Given the description of an element on the screen output the (x, y) to click on. 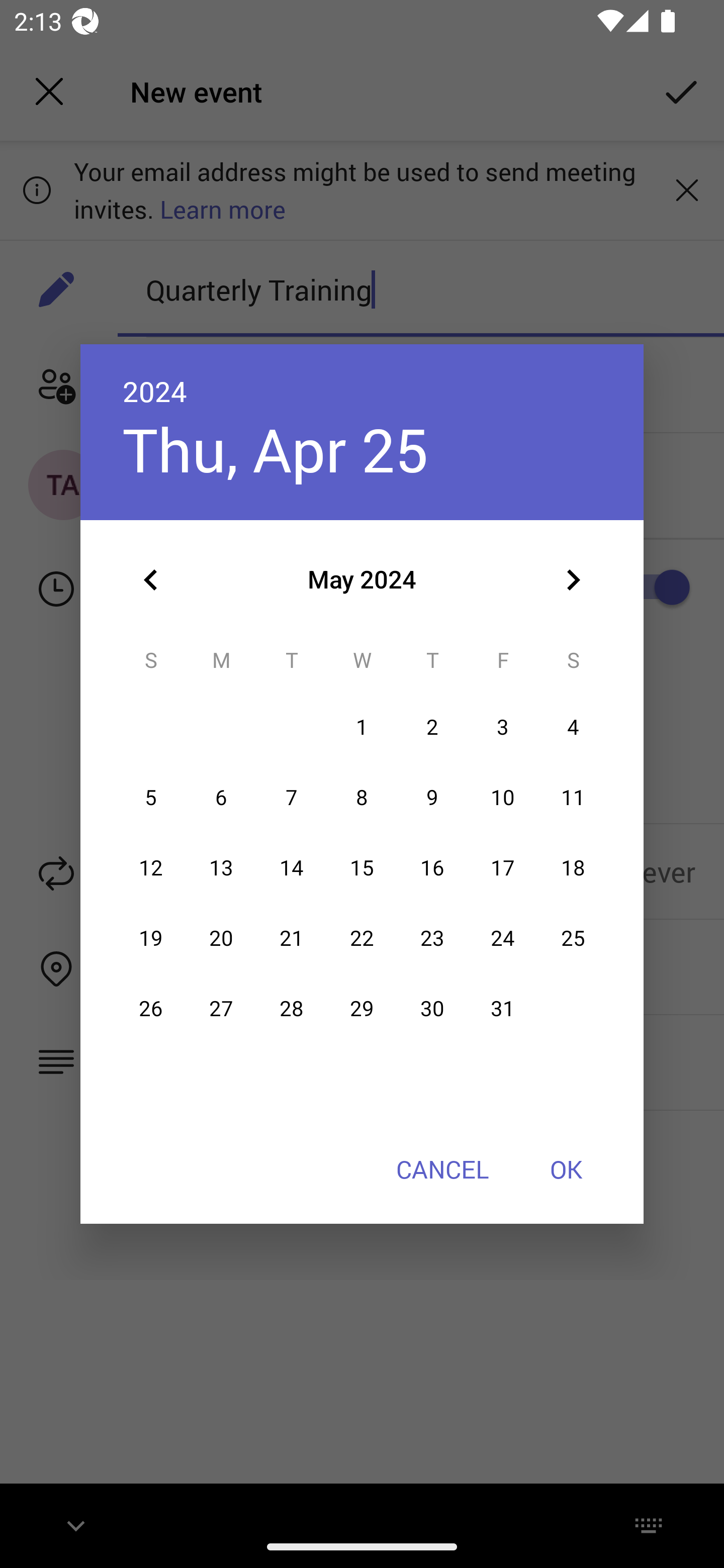
2024 (154, 391)
Thu, Apr 25 (275, 449)
Previous month (150, 579)
Next month (572, 579)
1 01 May 2024 (361, 728)
2 02 May 2024 (432, 728)
3 03 May 2024 (502, 728)
4 04 May 2024 (572, 728)
5 05 May 2024 (150, 797)
6 06 May 2024 (221, 797)
7 07 May 2024 (291, 797)
8 08 May 2024 (361, 797)
9 09 May 2024 (432, 797)
10 10 May 2024 (502, 797)
11 11 May 2024 (572, 797)
12 12 May 2024 (150, 867)
13 13 May 2024 (221, 867)
14 14 May 2024 (291, 867)
15 15 May 2024 (361, 867)
16 16 May 2024 (432, 867)
17 17 May 2024 (502, 867)
18 18 May 2024 (572, 867)
19 19 May 2024 (150, 938)
20 20 May 2024 (221, 938)
21 21 May 2024 (291, 938)
22 22 May 2024 (361, 938)
23 23 May 2024 (432, 938)
24 24 May 2024 (502, 938)
25 25 May 2024 (572, 938)
26 26 May 2024 (150, 1008)
27 27 May 2024 (221, 1008)
28 28 May 2024 (291, 1008)
29 29 May 2024 (361, 1008)
30 30 May 2024 (432, 1008)
31 31 May 2024 (502, 1008)
CANCEL (442, 1168)
OK (565, 1168)
